Given the description of an element on the screen output the (x, y) to click on. 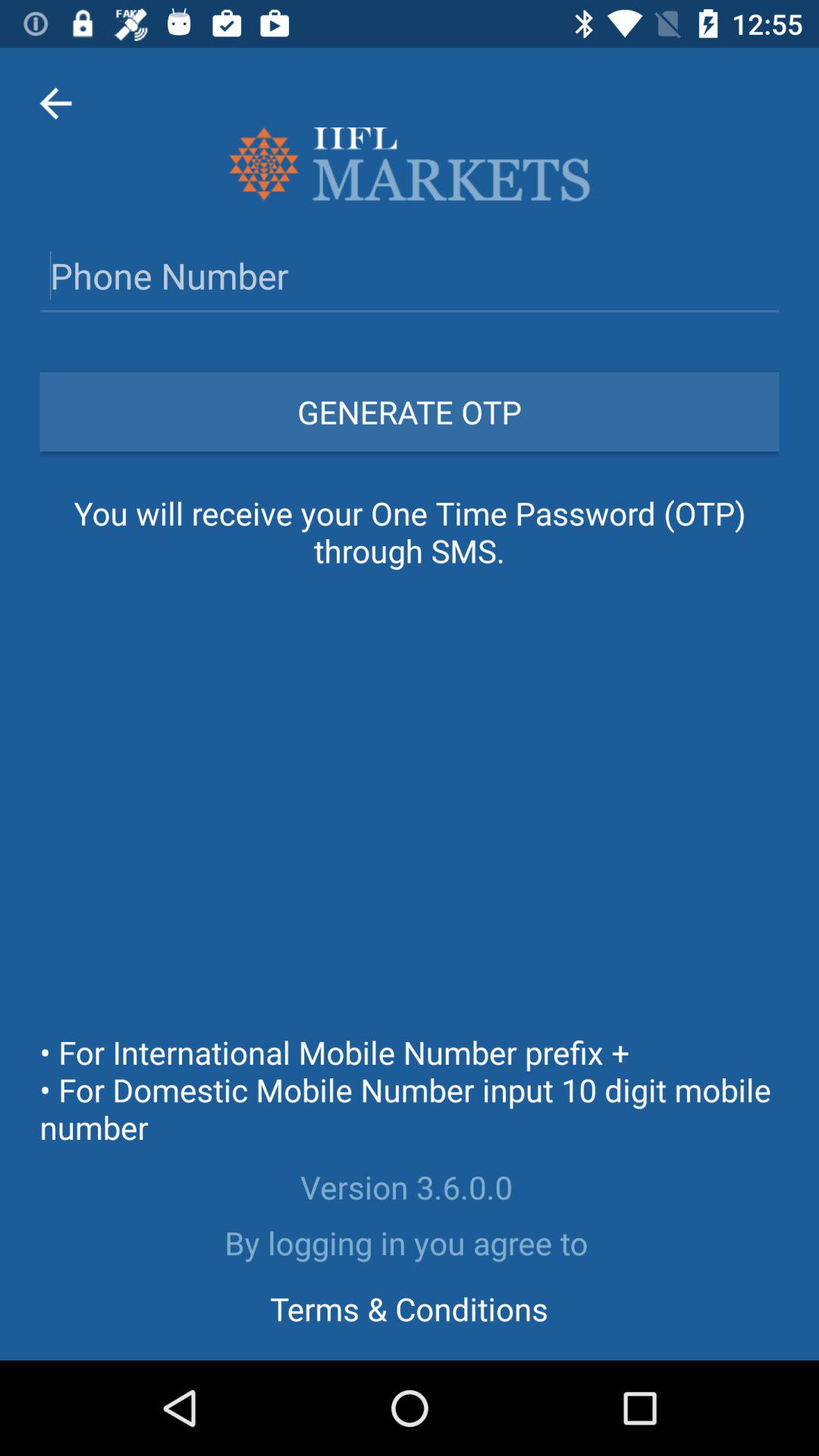
enter phone number (409, 275)
